Given the description of an element on the screen output the (x, y) to click on. 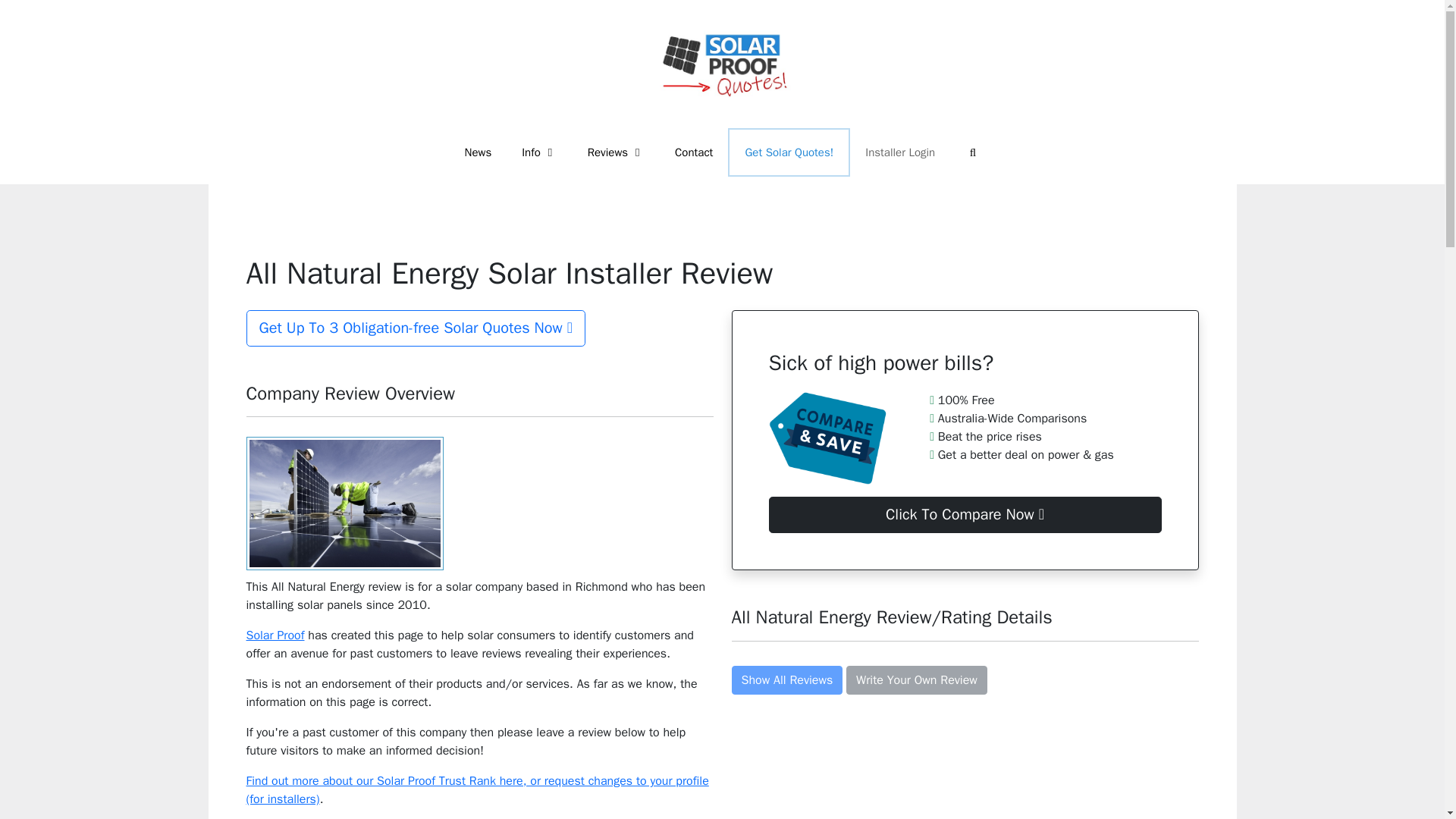
Installer Login (900, 152)
Show All Reviews (786, 679)
Search (972, 152)
Click To Compare Now (964, 514)
Get Solar Quotes! (789, 151)
Info (539, 152)
Solar Proof (275, 635)
News (477, 152)
Write Your Own Review (916, 679)
Solar Proof Quotes (721, 62)
Contact (693, 152)
Reviews (615, 152)
Search (972, 152)
Get Up To 3 Obligation-free Solar Quotes Now (415, 328)
Solar Proof Quotes (721, 63)
